Given the description of an element on the screen output the (x, y) to click on. 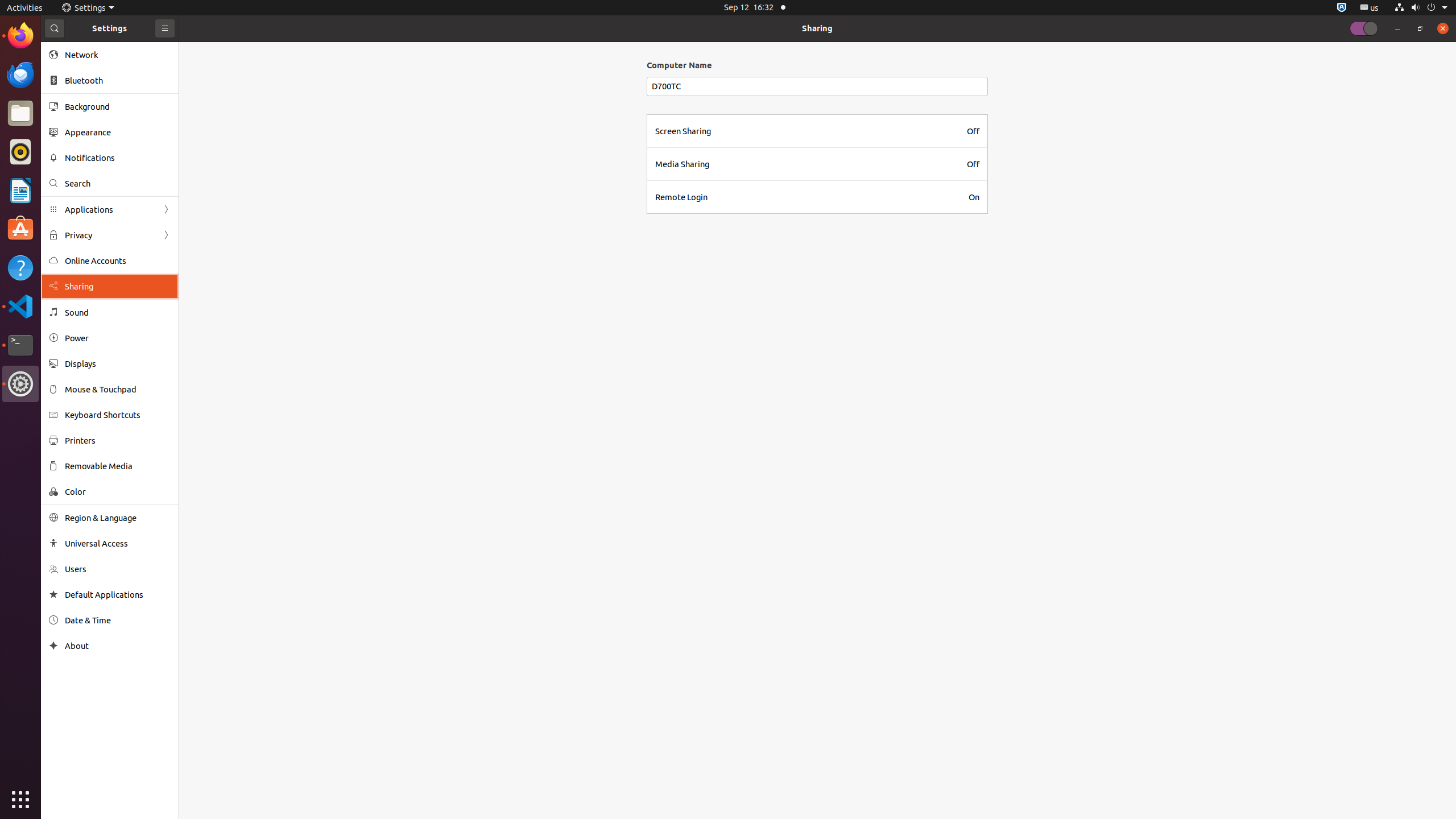
Online Accounts Element type: label (117, 260)
Displays Element type: label (117, 363)
On Element type: label (973, 196)
Applications Element type: label (109, 209)
